Given the description of an element on the screen output the (x, y) to click on. 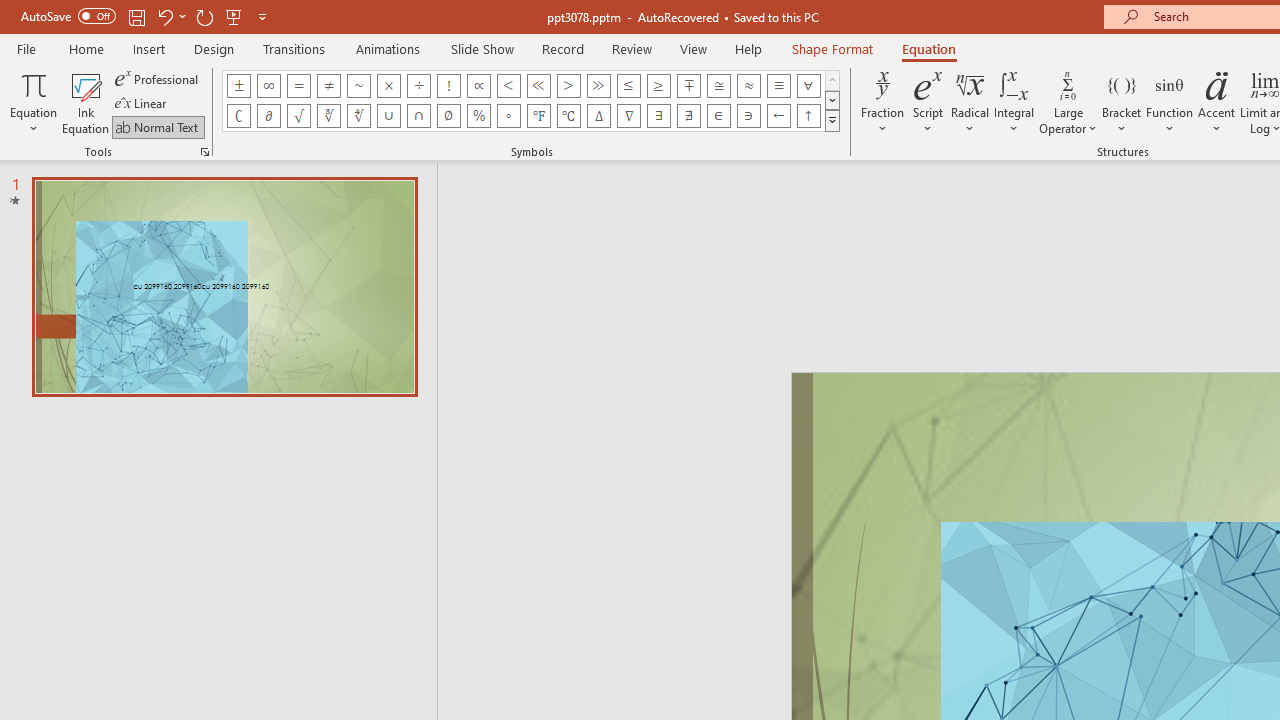
Equation Symbol Degrees Celsius (568, 115)
Equation Symbol Factorial (448, 85)
Equation Symbol Minus Plus (689, 85)
Equation Symbol Identical To (778, 85)
Equation Symbol Infinity (268, 85)
Function (1169, 102)
